Given the description of an element on the screen output the (x, y) to click on. 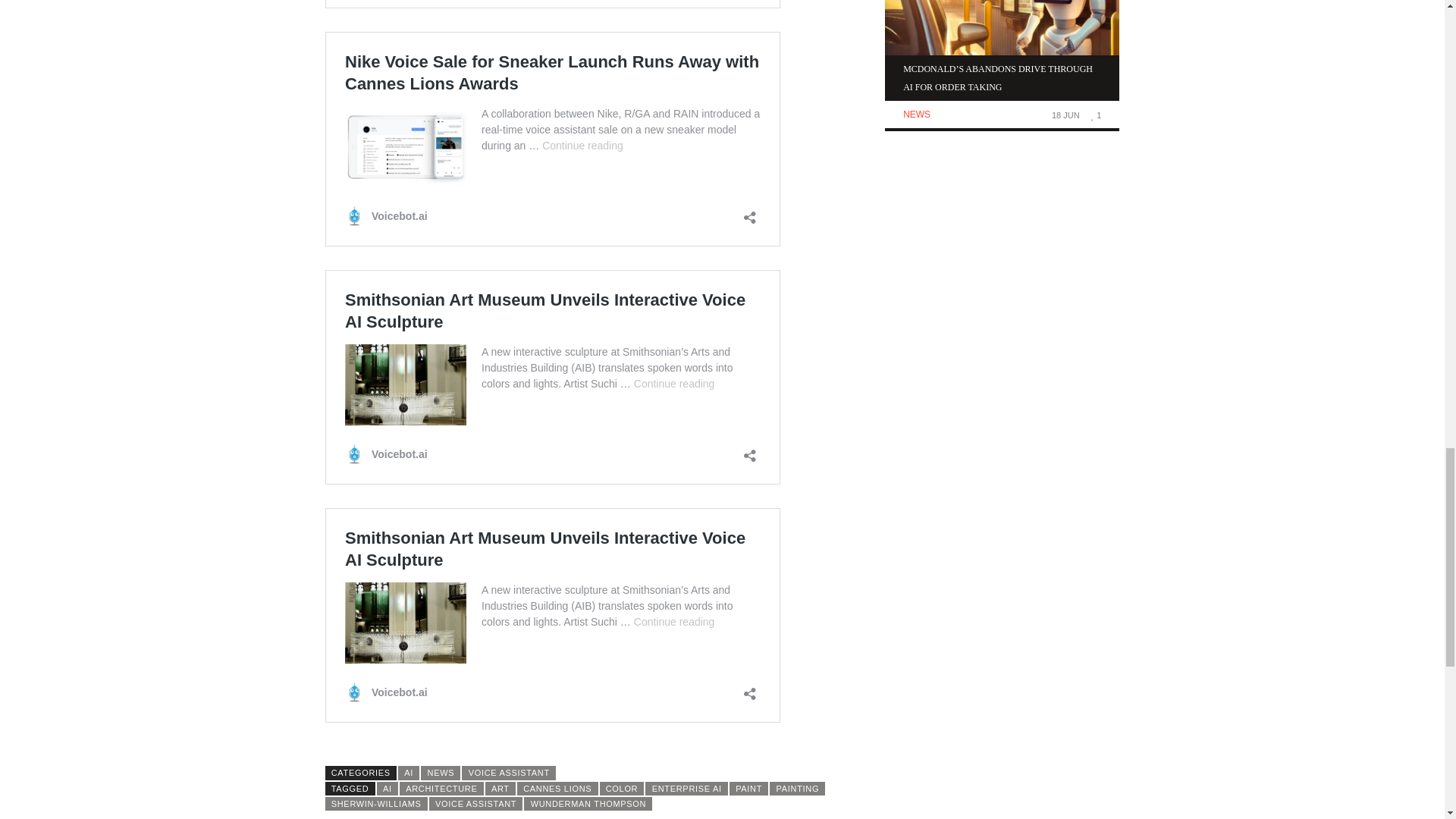
View all posts in News (440, 772)
View all posts tagged Enterprise AI (685, 788)
View all posts tagged color (620, 788)
View all posts tagged paint (748, 788)
View all posts in AI (408, 772)
View all posts tagged architecture (440, 788)
View all posts tagged art (499, 788)
View all posts tagged AI (387, 788)
View all posts in Voice Assistant (508, 772)
View all posts tagged Cannes Lions (557, 788)
